Given the description of an element on the screen output the (x, y) to click on. 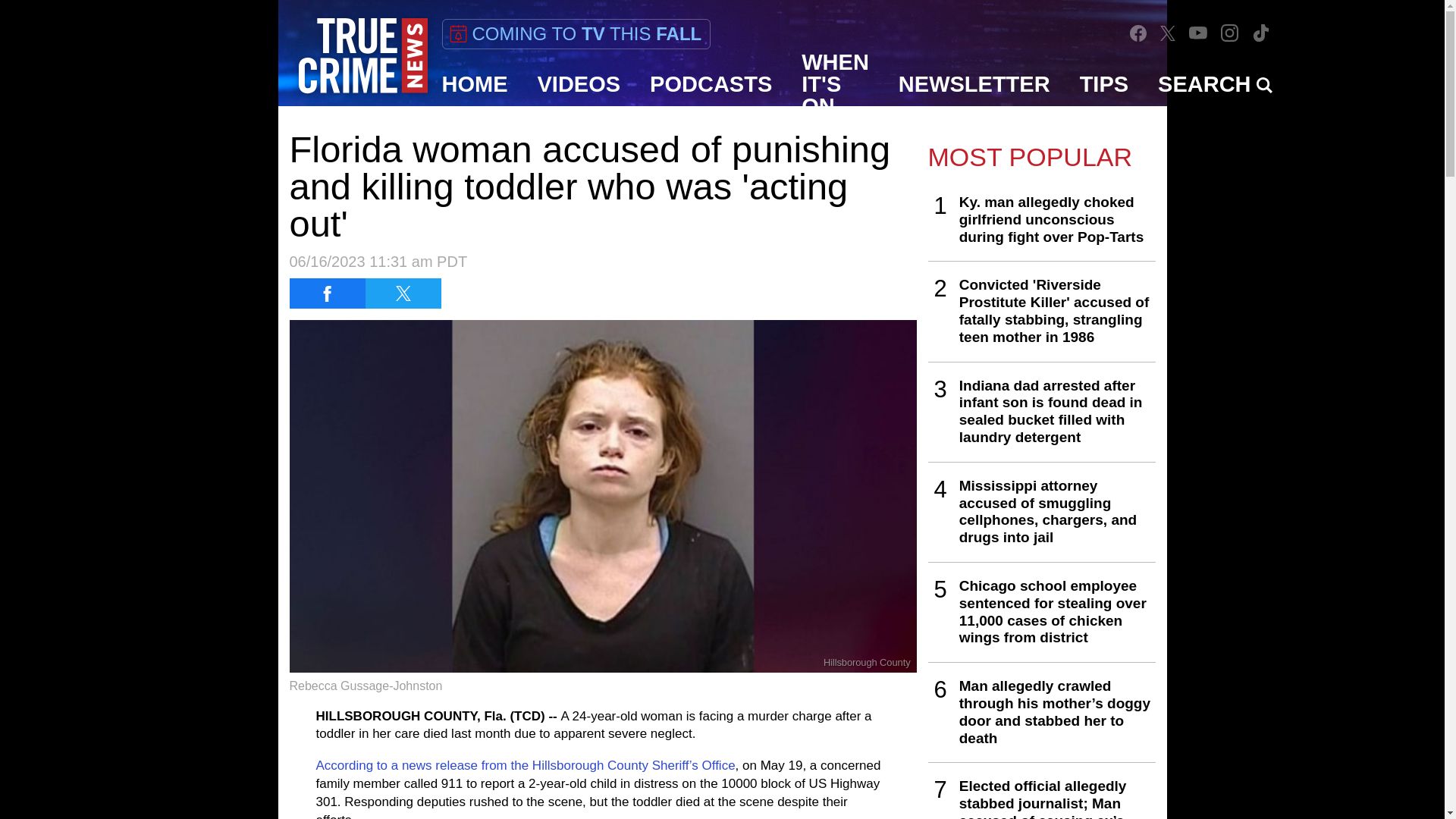
Twitter (1167, 32)
HOME (475, 84)
PODCASTS (710, 84)
True Crime News (363, 56)
TIPS (1103, 84)
SEARCH (1214, 84)
WHEN IT'S ON (835, 84)
YouTube (1198, 32)
Twitter (1167, 32)
Facebook (1138, 32)
